Given the description of an element on the screen output the (x, y) to click on. 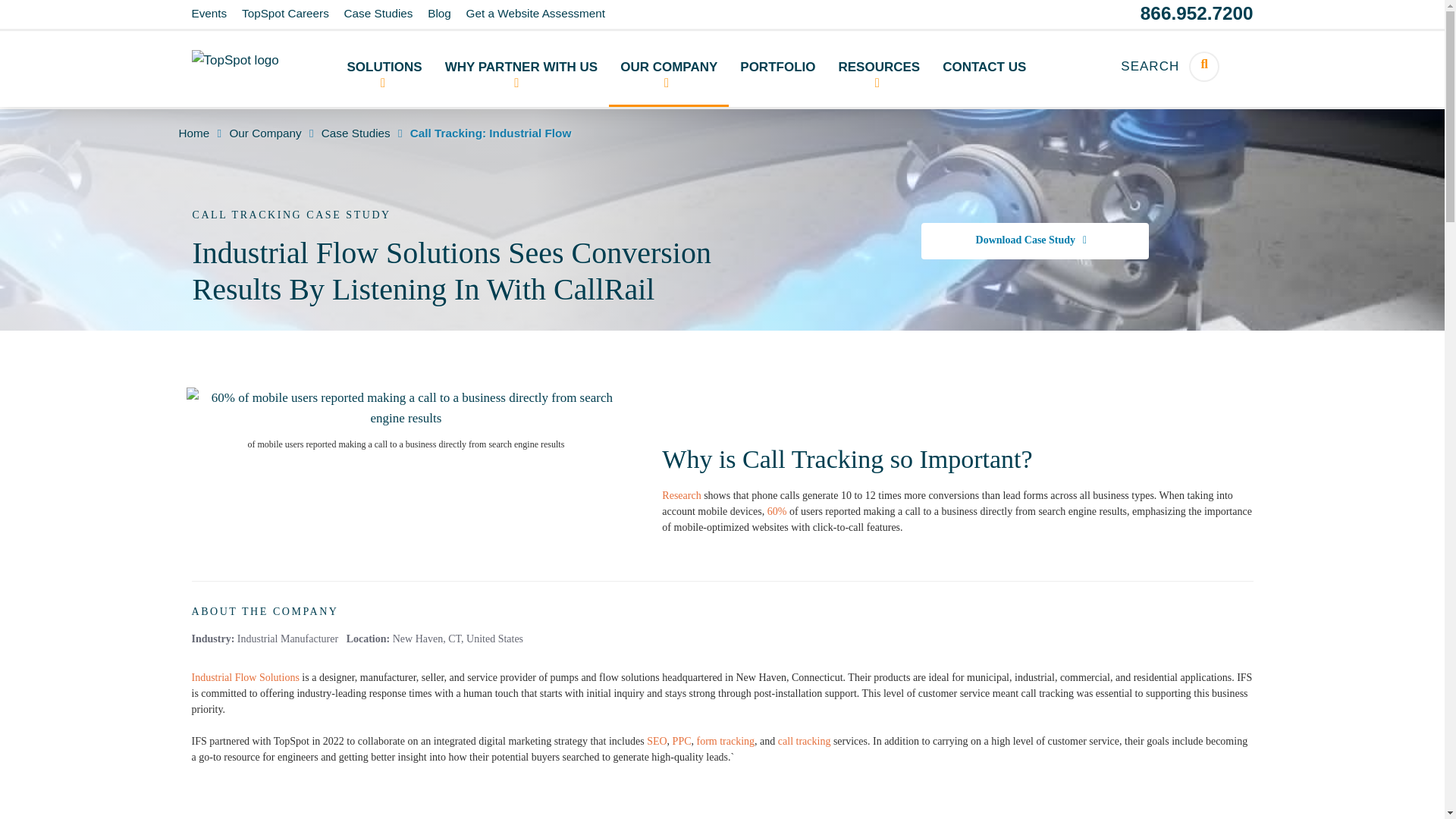
Case Studies (378, 12)
SOLUTIONS (383, 69)
TopSpot Careers (285, 12)
866.952.7200 (1196, 13)
Events (208, 12)
Blog (439, 12)
TopSpot (255, 59)
Get a Website Assessment (535, 12)
